Given the description of an element on the screen output the (x, y) to click on. 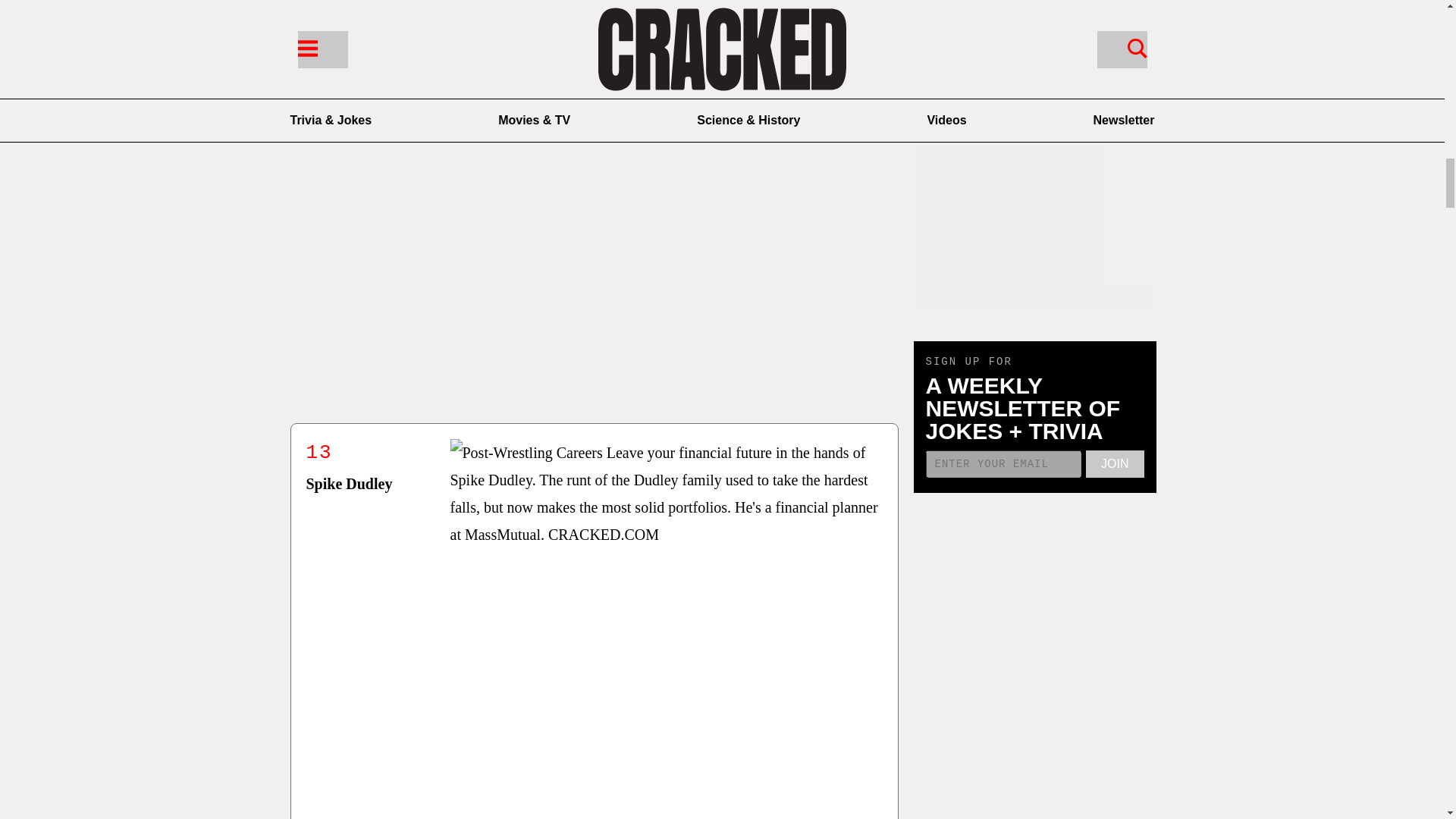
TheSporster (619, 0)
